Given the description of an element on the screen output the (x, y) to click on. 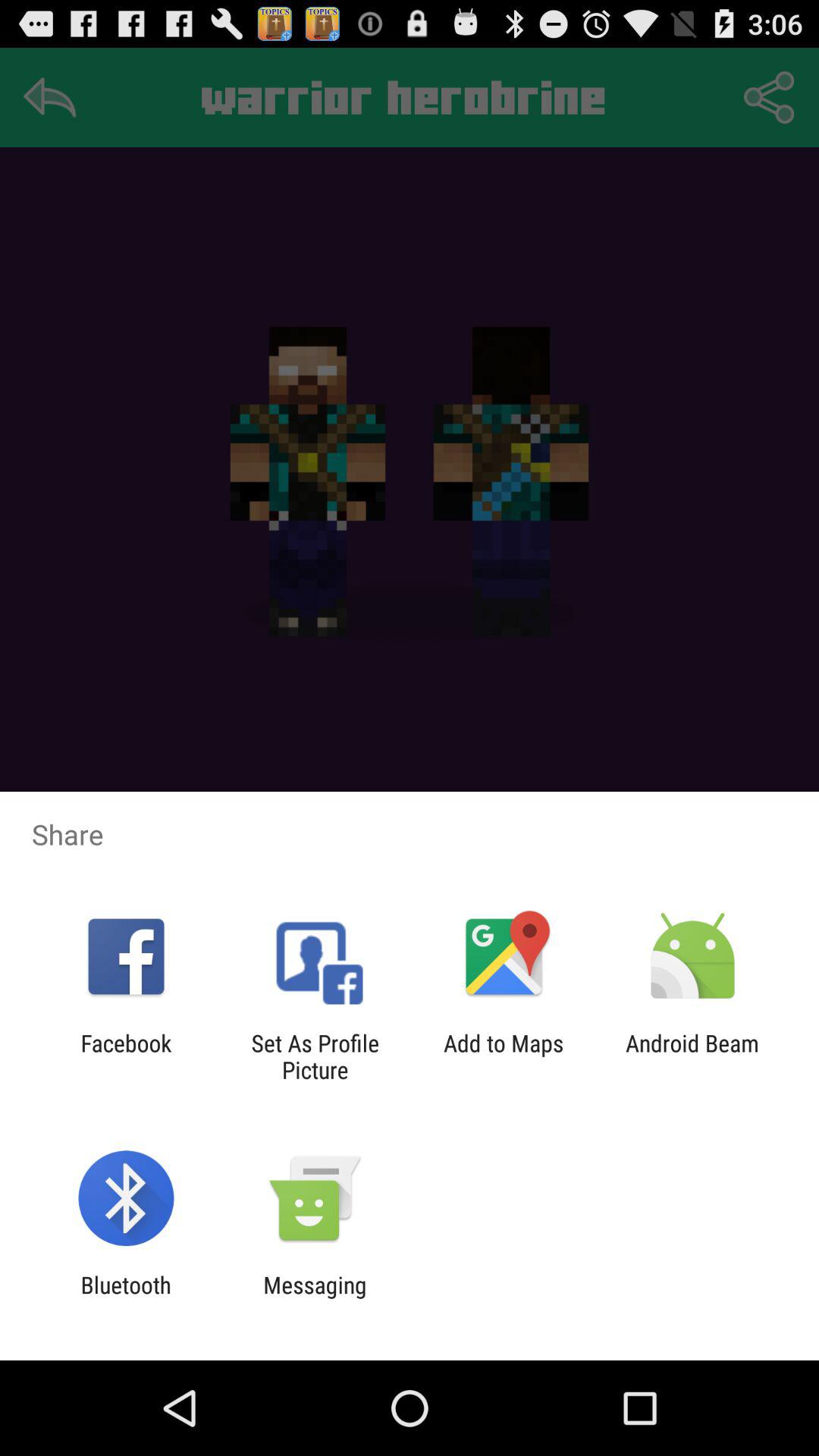
select the item next to set as profile item (503, 1056)
